Given the description of an element on the screen output the (x, y) to click on. 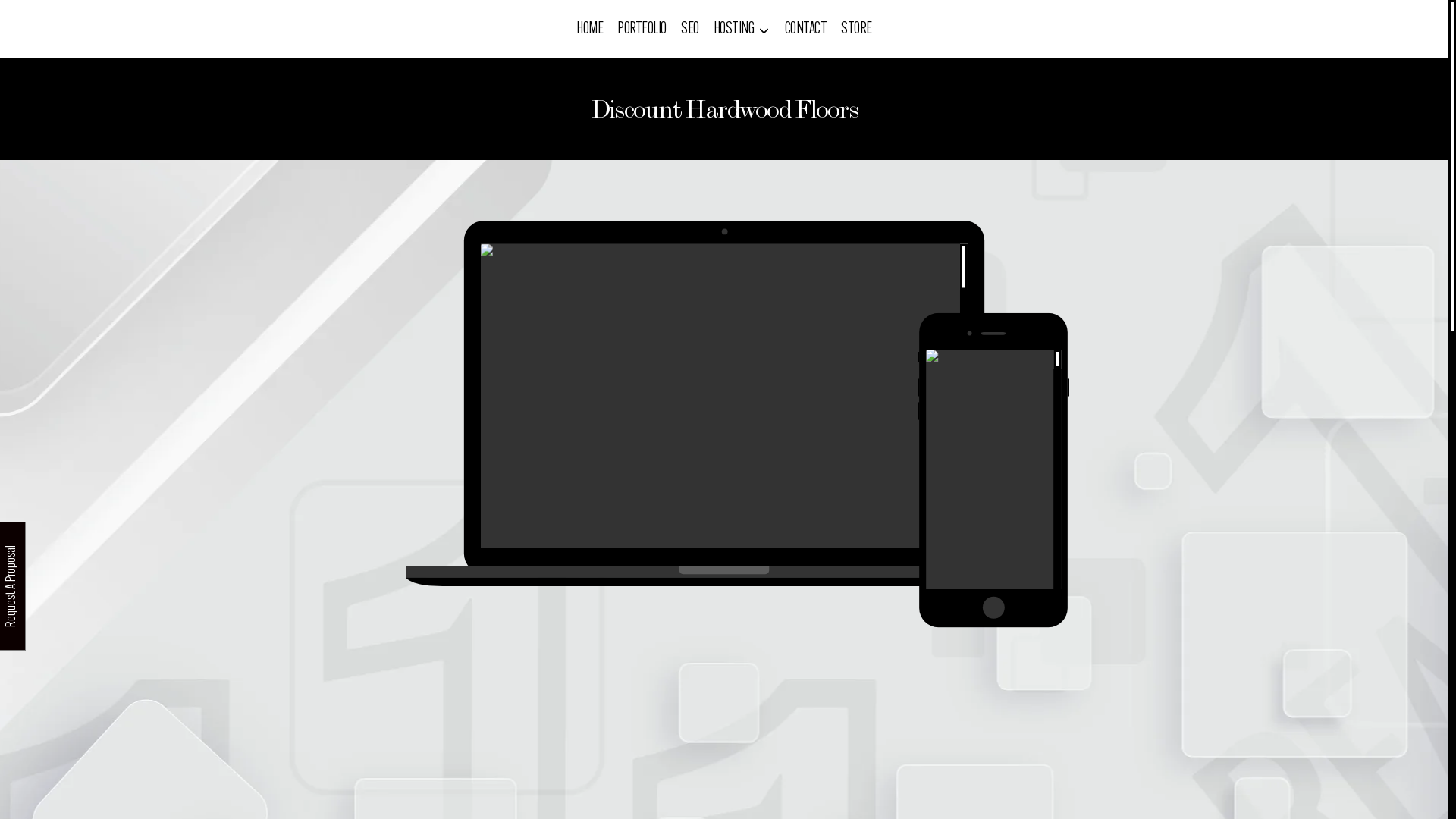
HOME Element type: text (589, 29)
STORE Element type: text (856, 29)
CONTACT Element type: text (805, 29)
SEO Element type: text (690, 29)
HOSTING Element type: text (741, 29)
PORTFOLIO Element type: text (642, 29)
